Given the description of an element on the screen output the (x, y) to click on. 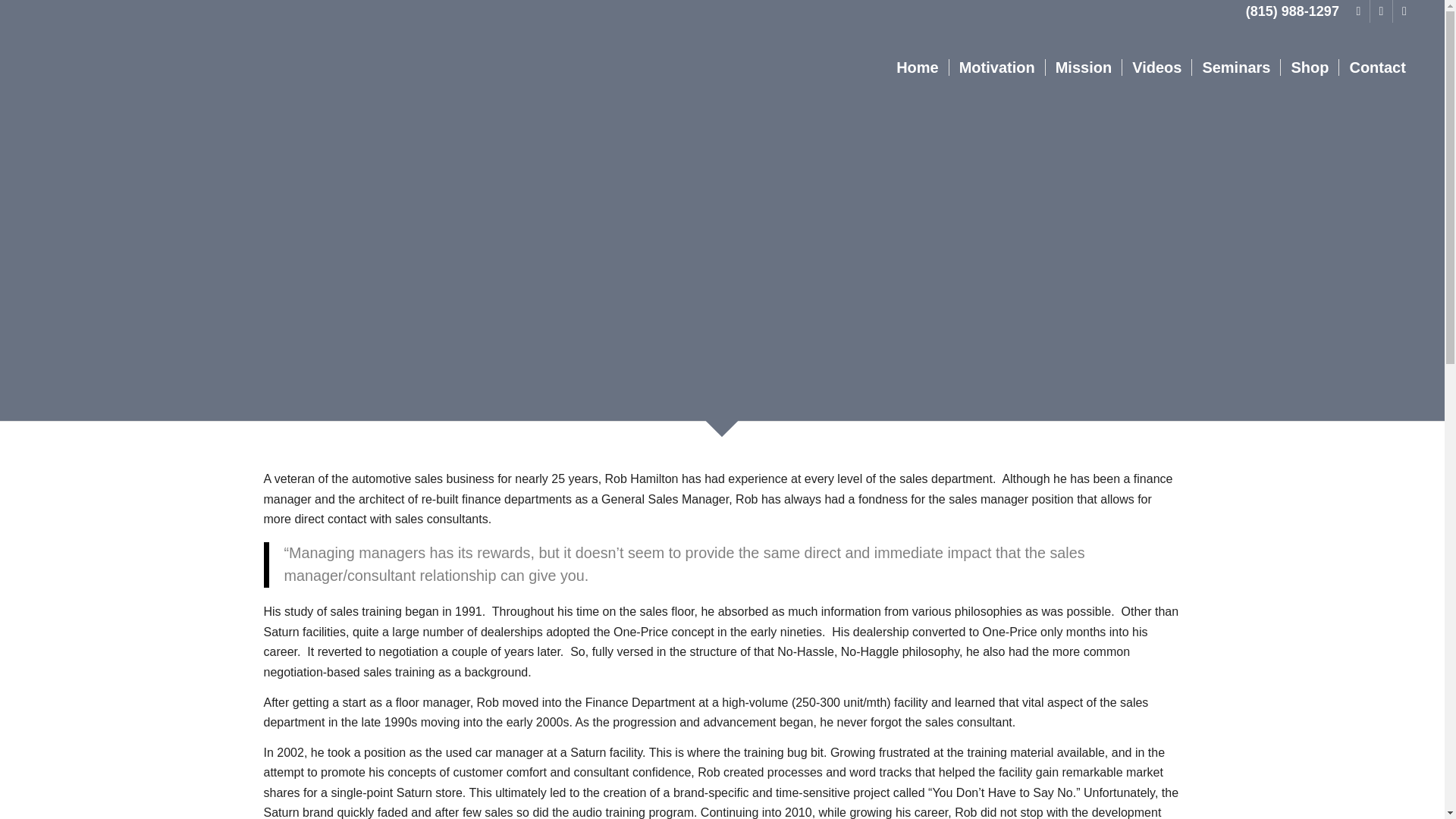
Facebook (1359, 11)
Motivation (997, 67)
Mail (1404, 11)
X (1380, 11)
Seminars (1235, 67)
